Given the description of an element on the screen output the (x, y) to click on. 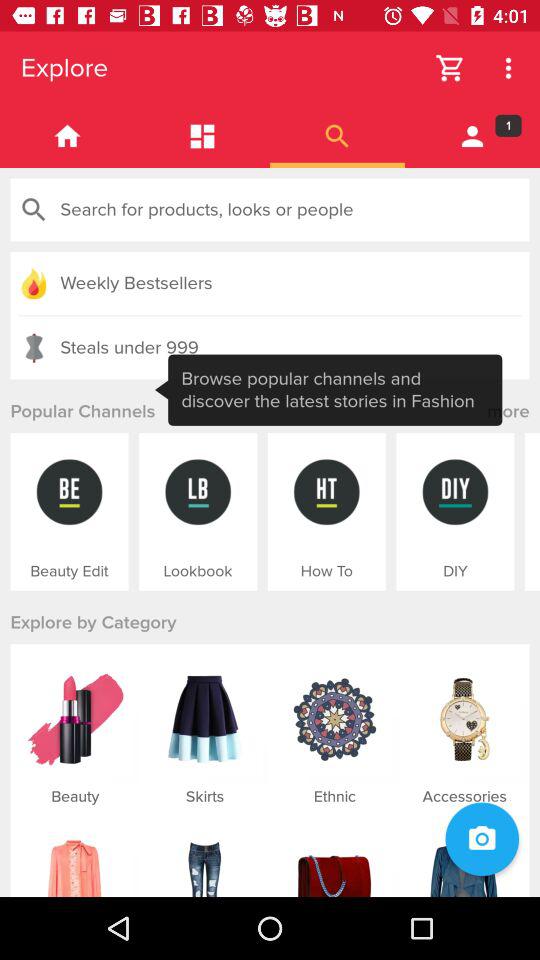
menu (202, 136)
